Given the description of an element on the screen output the (x, y) to click on. 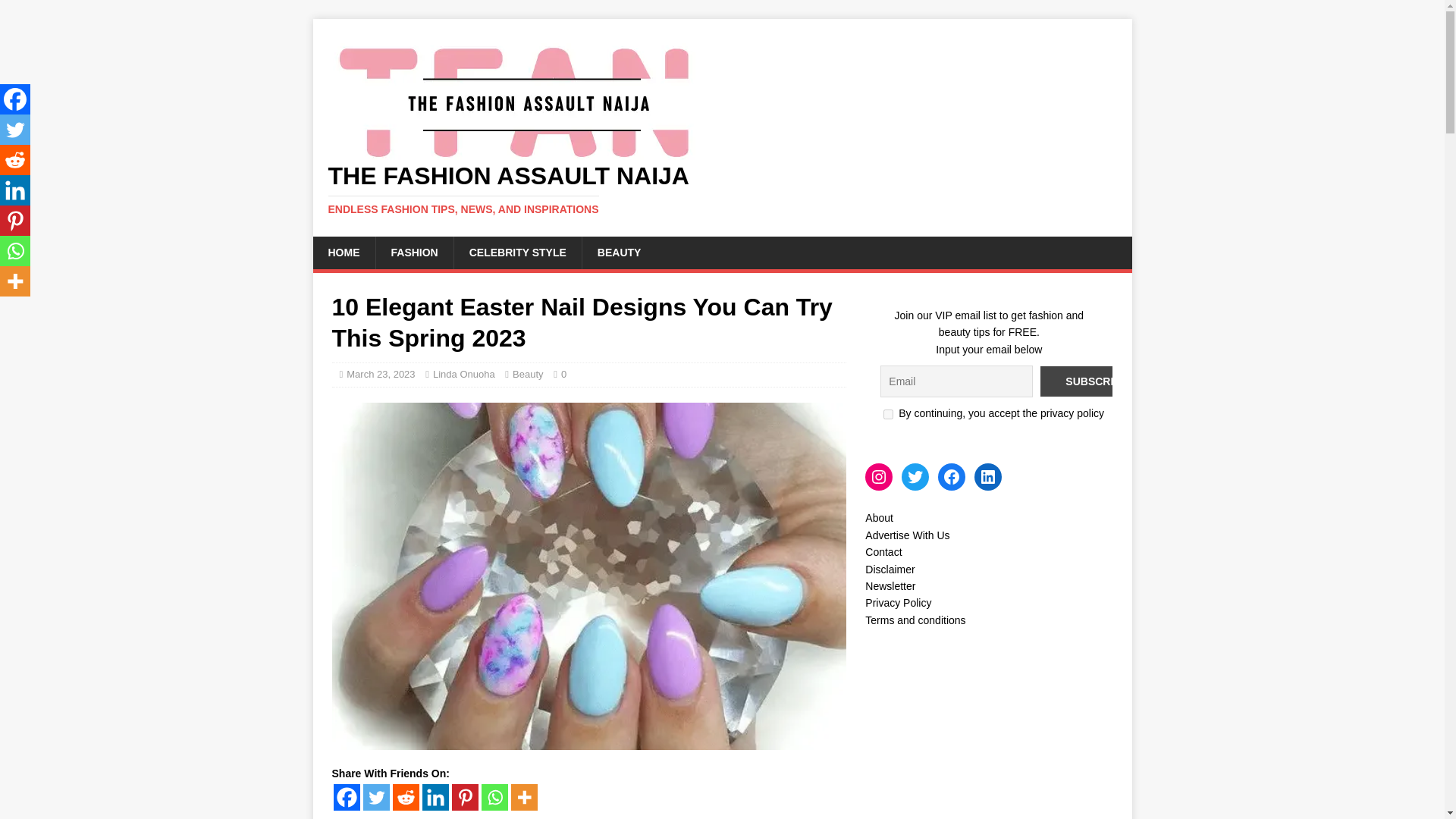
Beauty (527, 374)
Linkedin (435, 796)
Whatsapp (493, 796)
FASHION (413, 252)
Facebook (346, 796)
Linda Onuoha (463, 374)
More (524, 796)
BEAUTY (618, 252)
Twitter (375, 796)
